Given the description of an element on the screen output the (x, y) to click on. 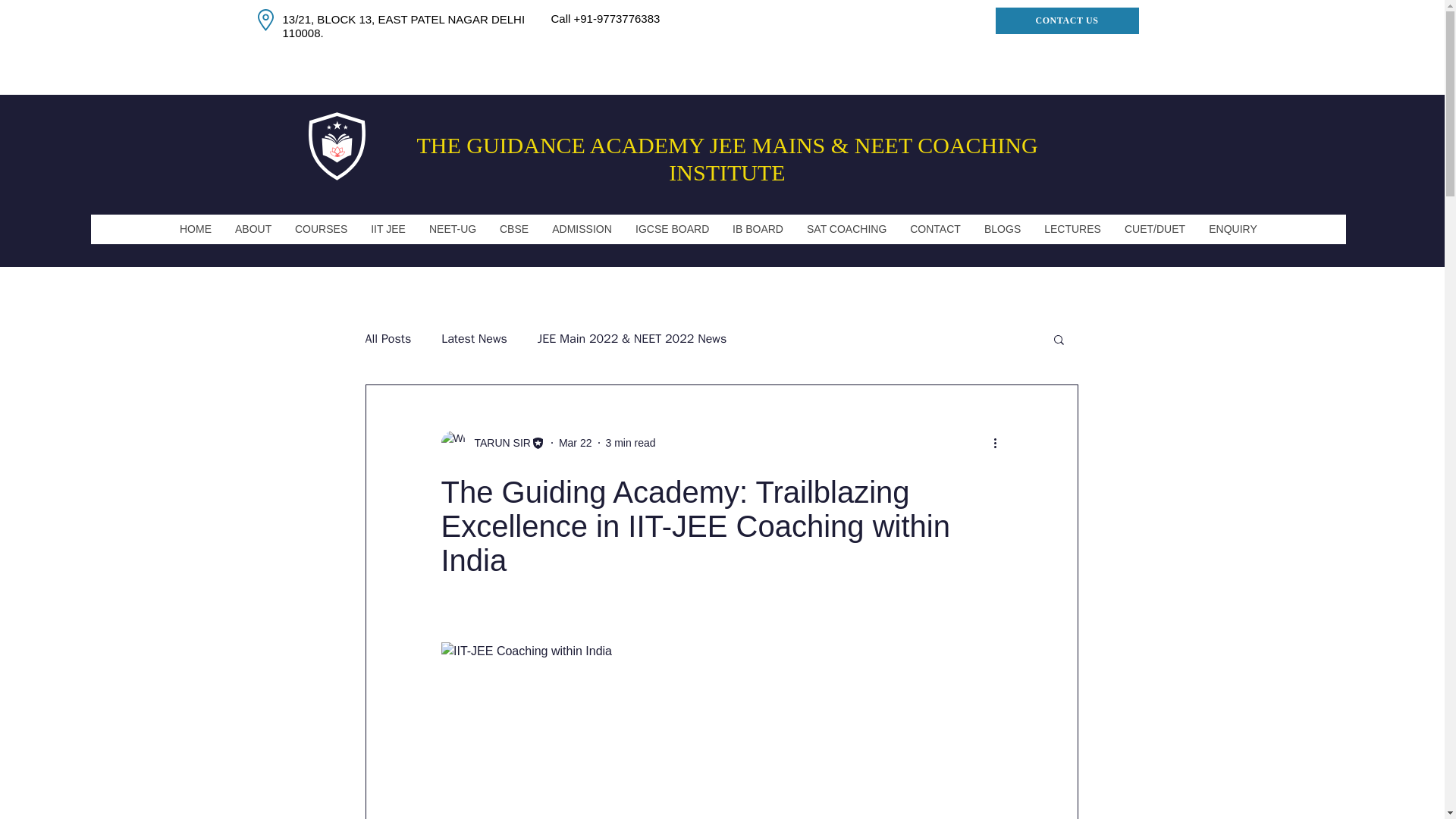
Mar 22 (575, 442)
IB BOARD (757, 229)
COURSES (320, 229)
3 min read (630, 442)
CBSE (513, 229)
SAT COACHING (846, 229)
CONTACT US (1066, 20)
HOME (194, 229)
ADMISSION (581, 229)
IGCSE BOARD (671, 229)
